Given the description of an element on the screen output the (x, y) to click on. 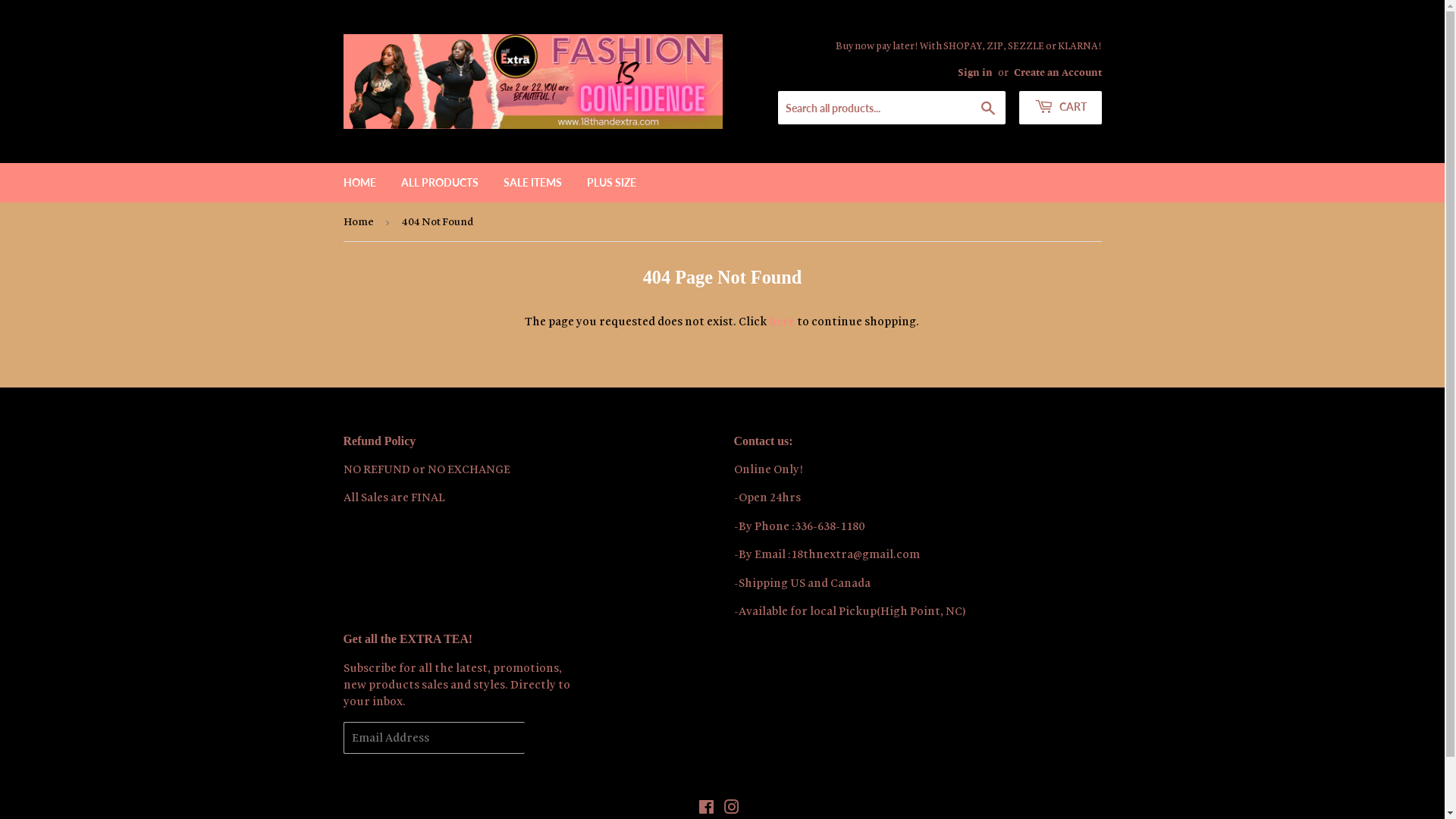
Facebook Element type: text (705, 808)
Sign in Element type: text (974, 71)
Instagram Element type: text (730, 808)
ALL PRODUCTS Element type: text (439, 182)
Home Element type: text (360, 221)
Search Element type: text (987, 108)
SIGN UP Element type: text (552, 737)
SALE ITEMS Element type: text (531, 182)
CART Element type: text (1060, 107)
HOME Element type: text (359, 182)
Create an Account Element type: text (1057, 71)
PLUS SIZE Element type: text (610, 182)
here Element type: text (781, 320)
